Given the description of an element on the screen output the (x, y) to click on. 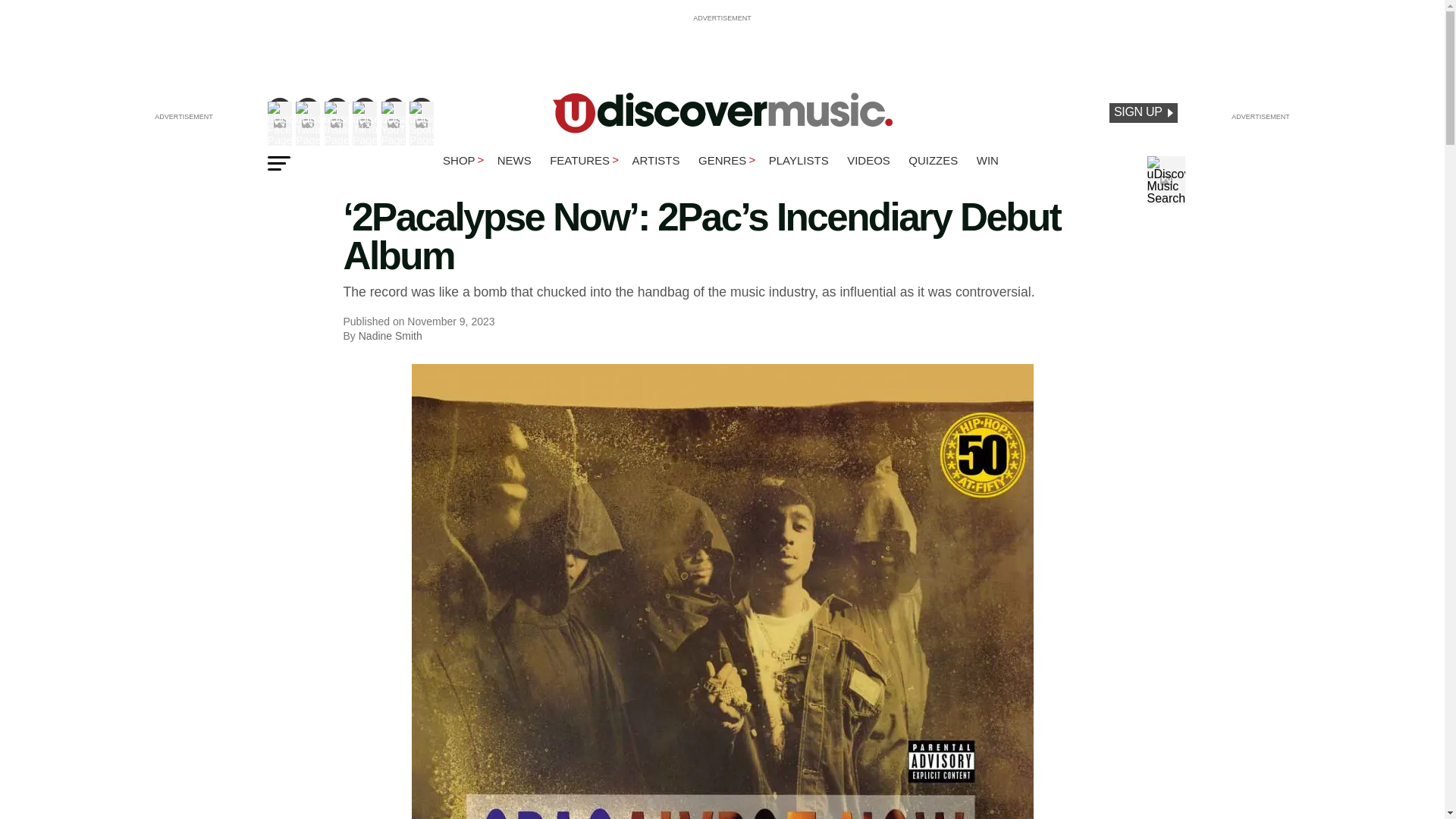
Posts by Nadine Smith (390, 336)
